Given the description of an element on the screen output the (x, y) to click on. 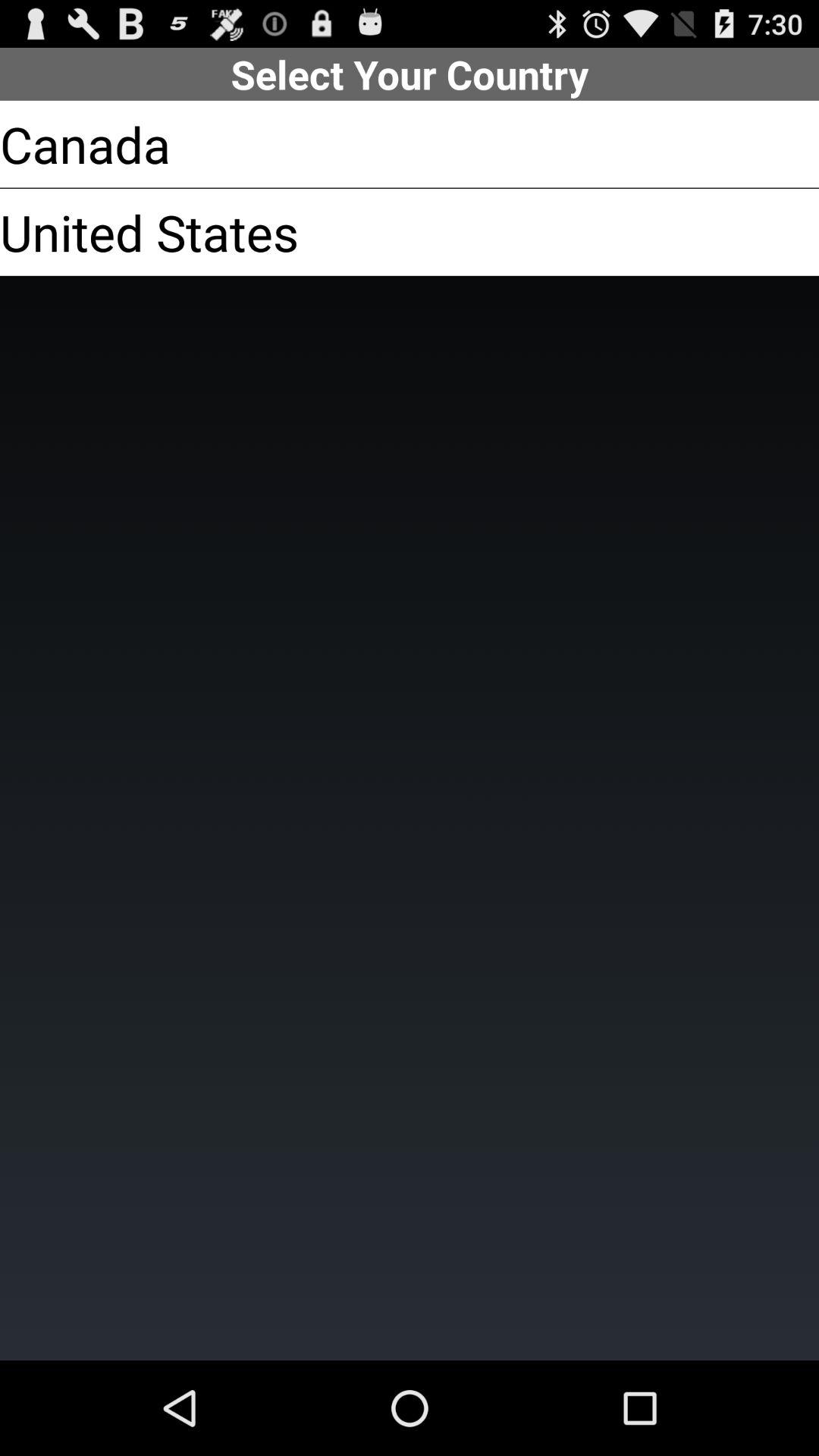
choose icon above the united states item (85, 143)
